Given the description of an element on the screen output the (x, y) to click on. 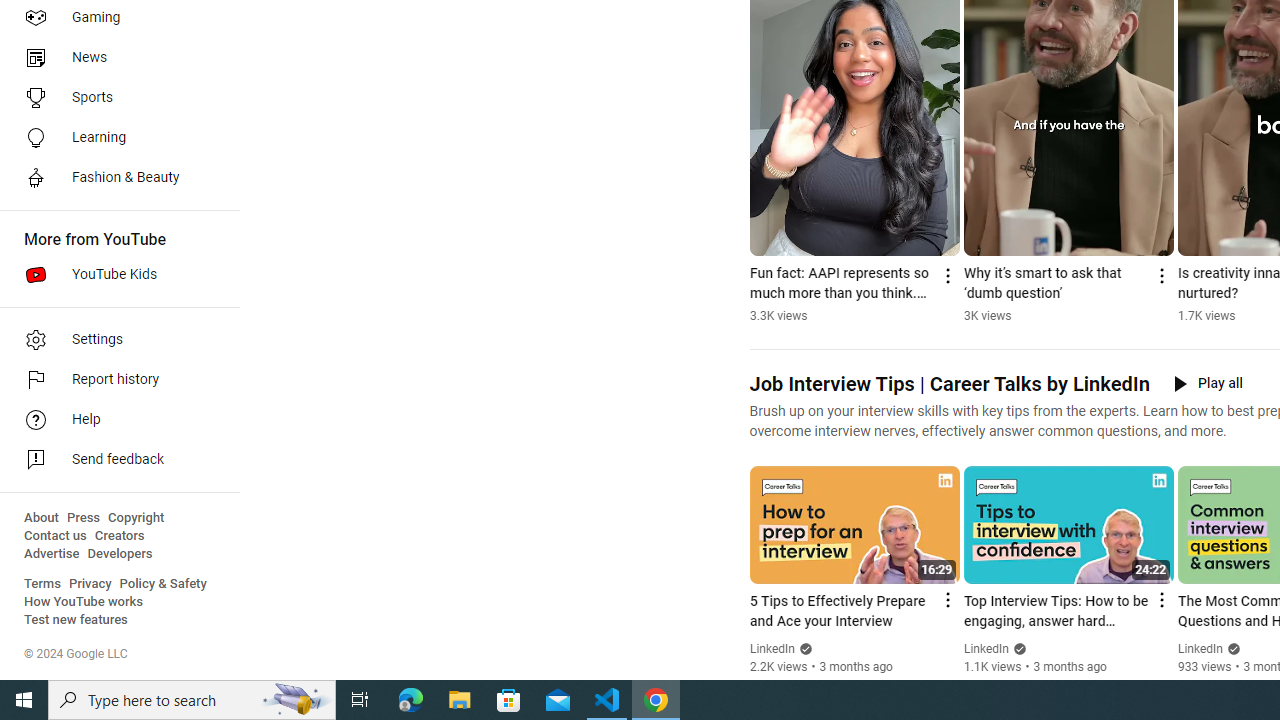
News (113, 57)
Copyright (136, 518)
Developers (120, 554)
Press (83, 518)
Privacy (89, 584)
Creators (118, 536)
Test new features (76, 620)
Advertise (51, 554)
Learning (113, 137)
More actions (1160, 276)
Settings (113, 339)
YouTube Kids (113, 274)
Fashion & Beauty (113, 177)
